Given the description of an element on the screen output the (x, y) to click on. 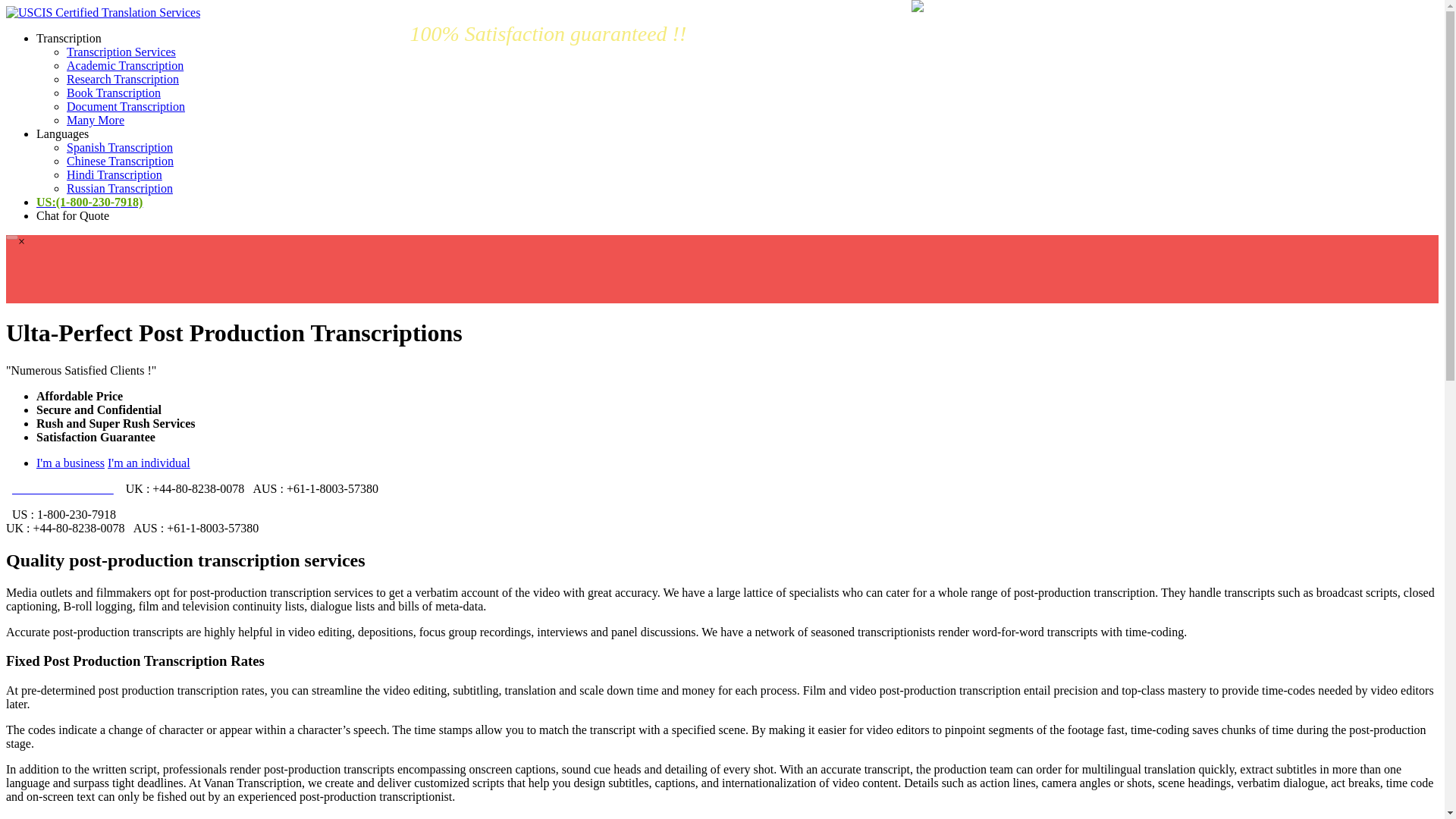
Russian Transcription (119, 187)
Chinese Transcription (119, 160)
Research Transcription (122, 78)
Chat for Quote (72, 215)
Many More (94, 119)
Book Transcription (113, 92)
Transcription (68, 38)
I'm a business (70, 462)
Hindi Transcription (113, 174)
I'm an individual (148, 462)
Transcription Services (121, 51)
Spanish Transcription (119, 146)
Languages (62, 133)
Academic Transcription (124, 65)
US: 1-800-230-7918 (62, 488)
